Given the description of an element on the screen output the (x, y) to click on. 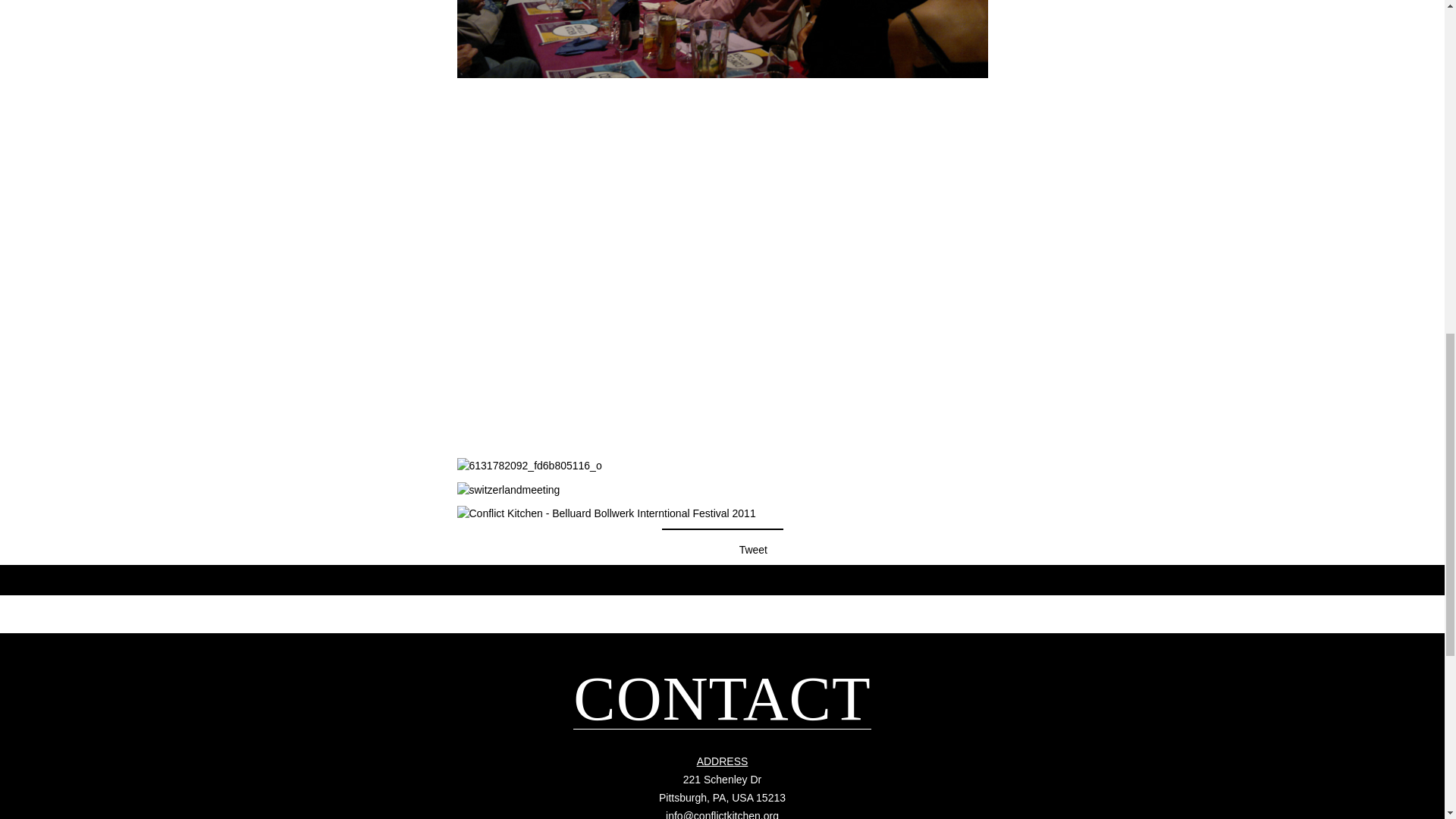
Tweet (722, 788)
